Given the description of an element on the screen output the (x, y) to click on. 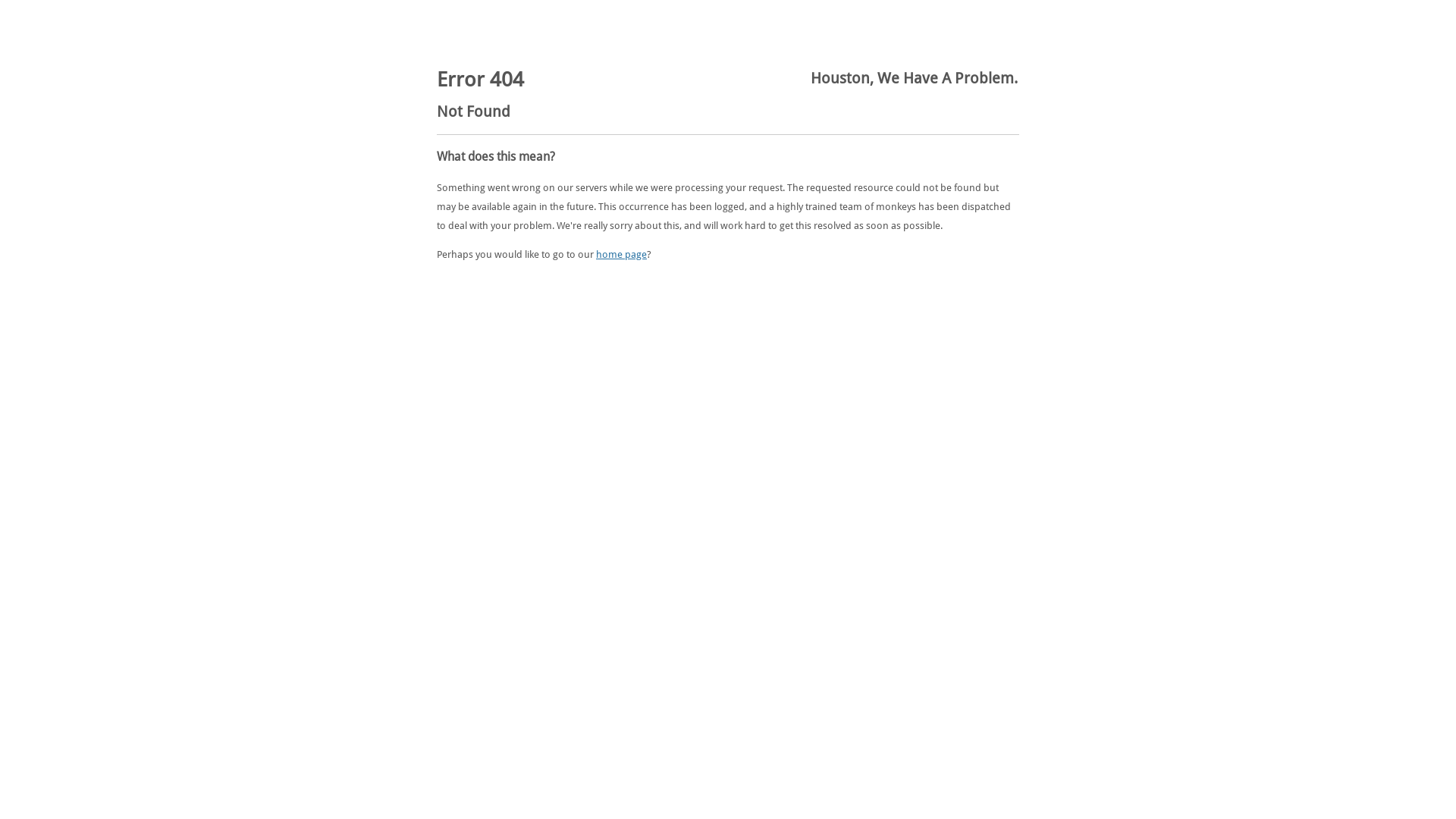
home page Element type: text (621, 254)
